Given the description of an element on the screen output the (x, y) to click on. 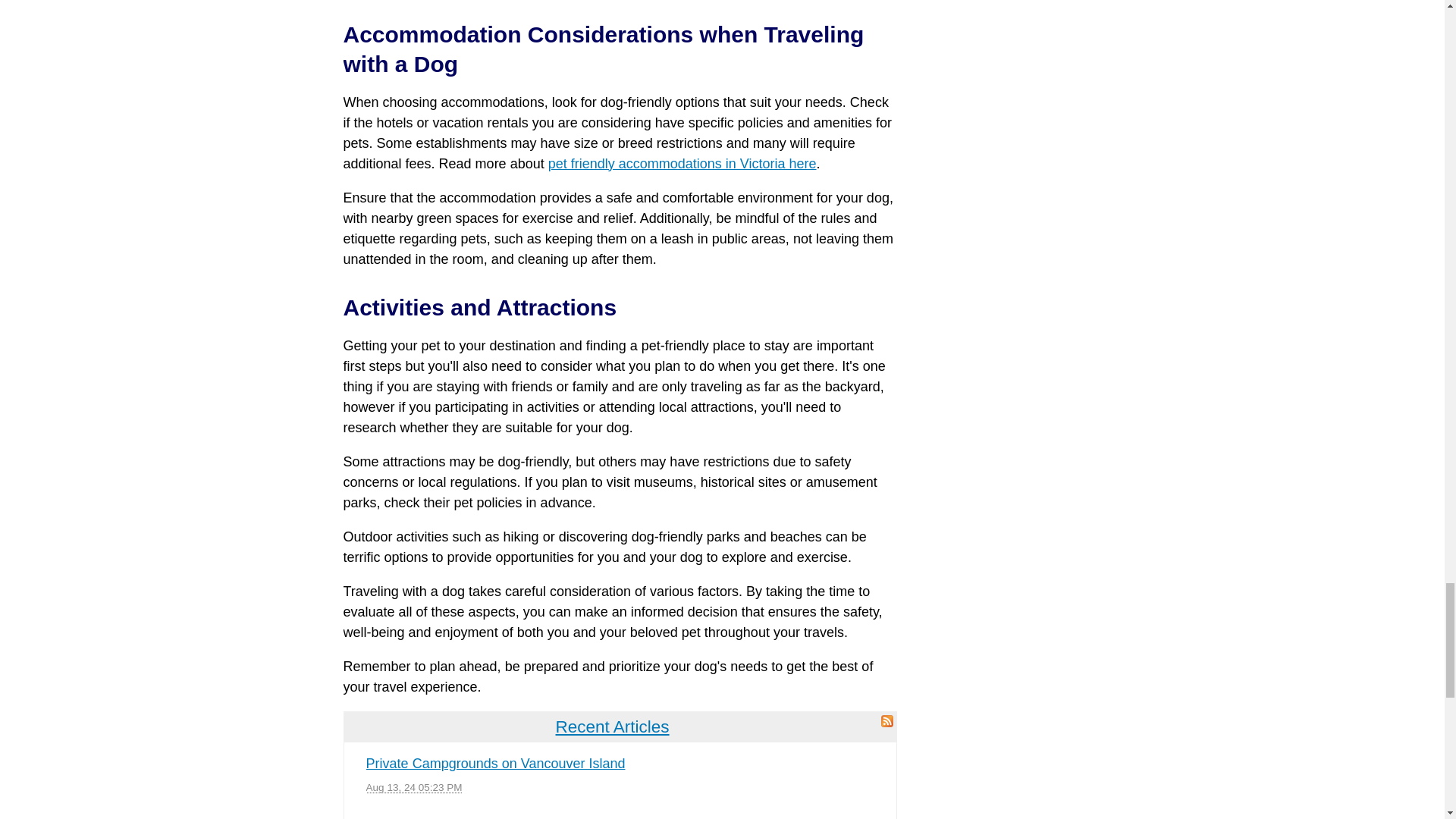
Recent Articles (612, 726)
pet friendly accommodations in Victoria here (682, 163)
2024-08-13T17:23:04-0400 (414, 787)
